Given the description of an element on the screen output the (x, y) to click on. 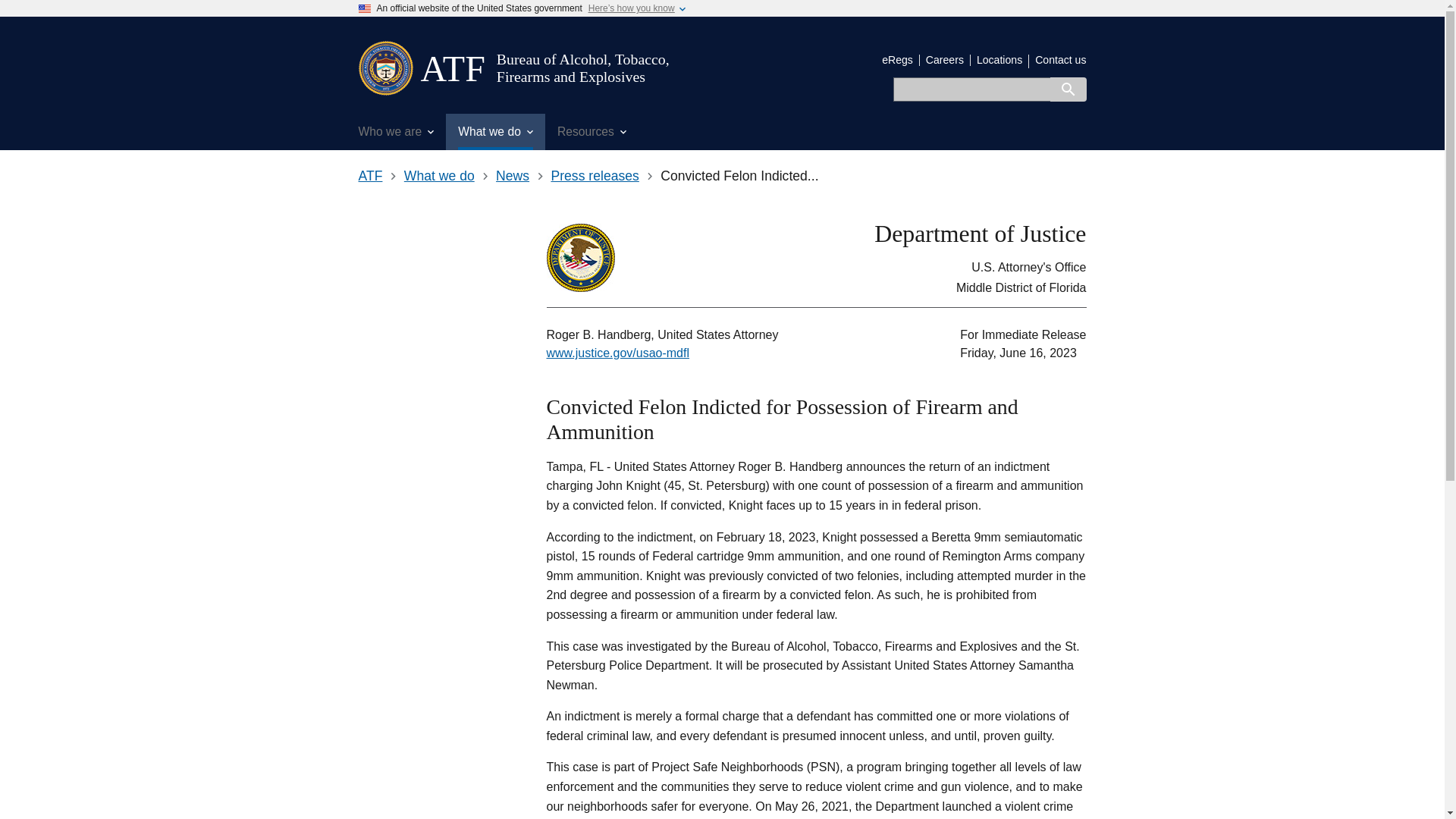
Careers (944, 59)
Contact us (1060, 59)
Locations (999, 59)
eRegs (897, 59)
ATF (369, 175)
What we do (494, 131)
ATF (452, 68)
News (512, 175)
Resources (591, 131)
Who we are (395, 131)
Press releases (594, 175)
ATF (452, 68)
What we do (439, 175)
Search (1067, 88)
